Given the description of an element on the screen output the (x, y) to click on. 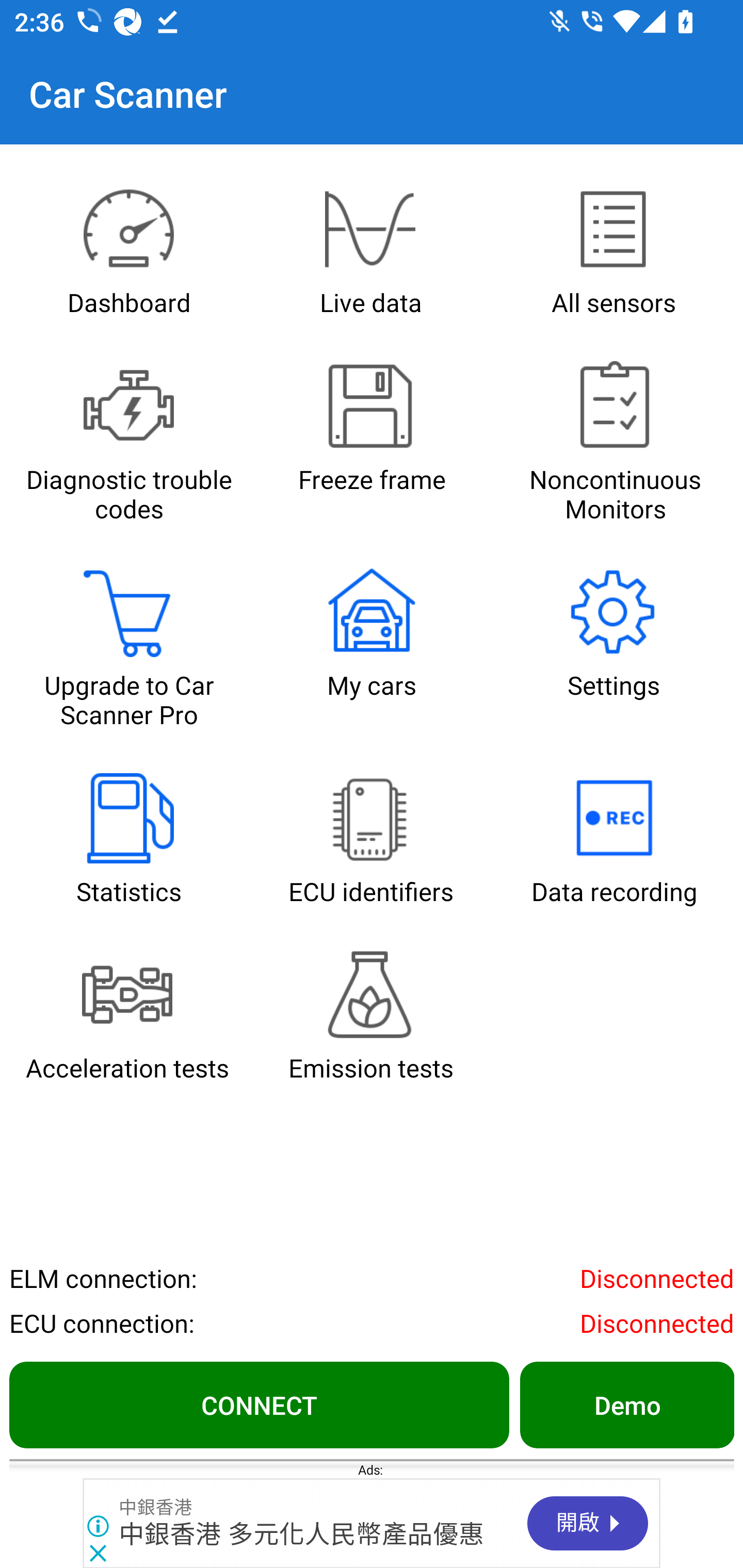
CONNECT (258, 1404)
Demo (627, 1404)
中銀香港 (155, 1507)
開啟 (587, 1522)
中銀香港 多元化人民幣產品優惠 (301, 1533)
